Given the description of an element on the screen output the (x, y) to click on. 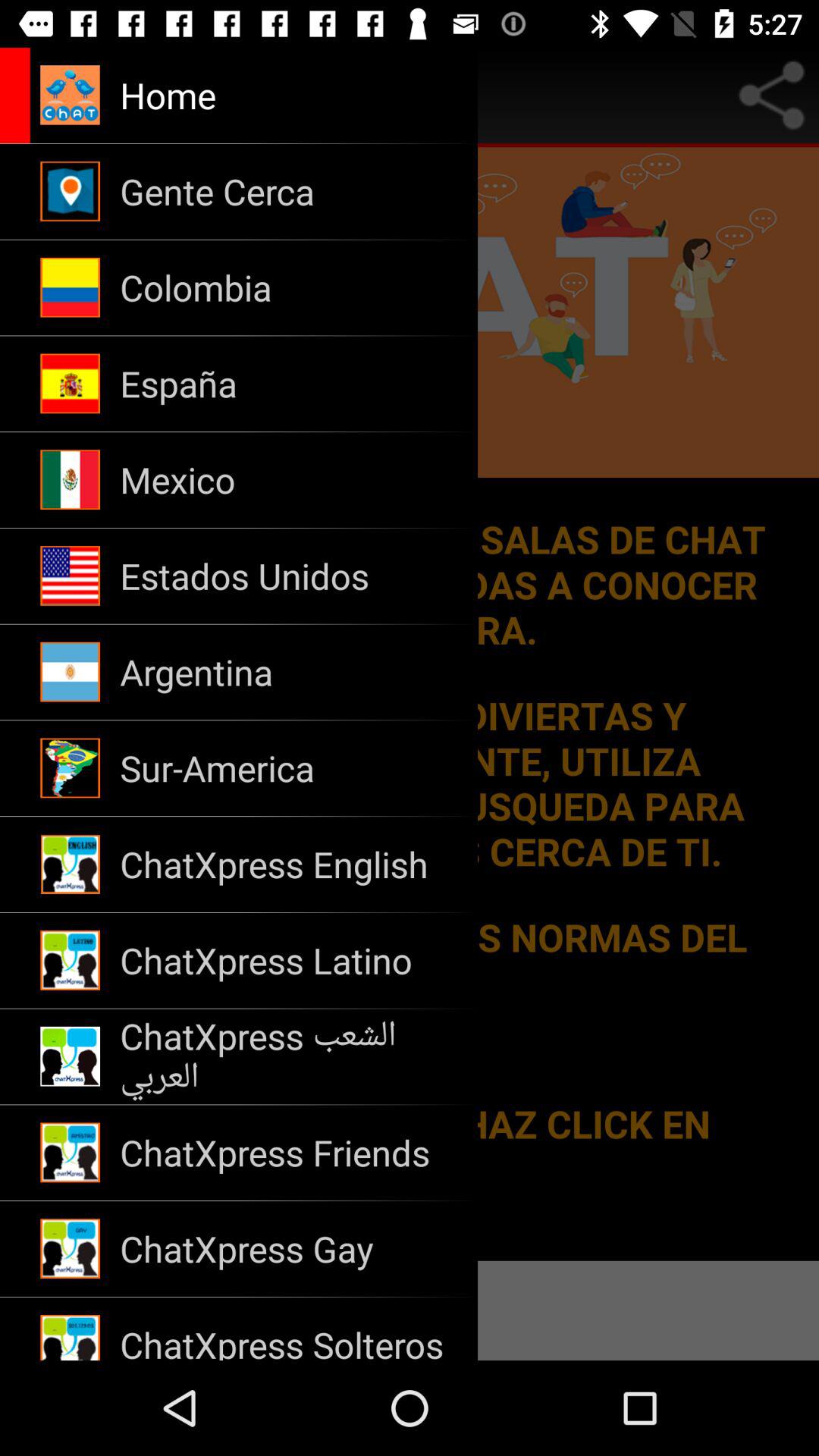
go to home (178, 95)
